Given the description of an element on the screen output the (x, y) to click on. 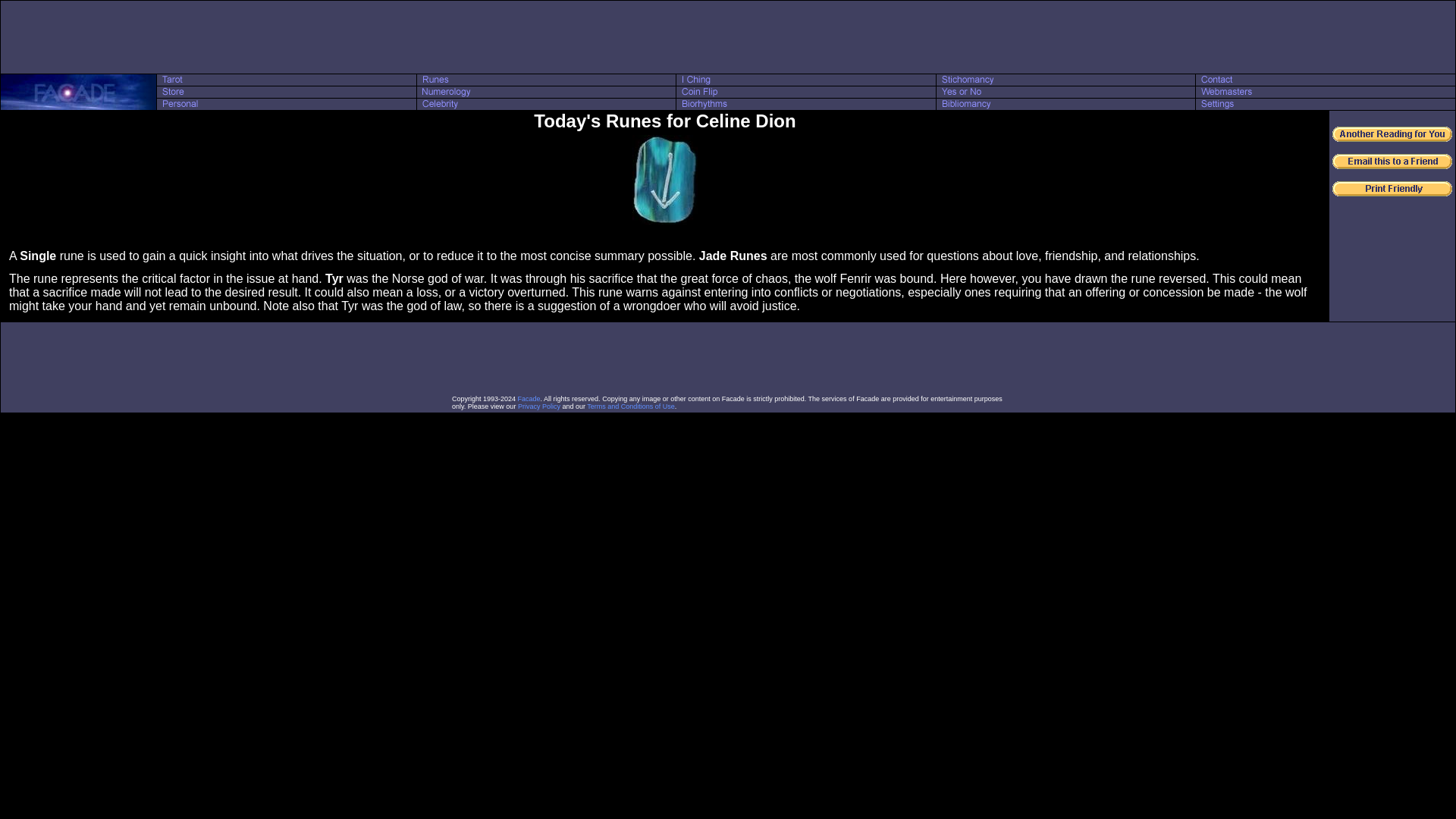
Privacy Policy (539, 406)
Advertisement (727, 37)
Facade (529, 398)
Terms and Conditions of Use (630, 406)
Advertisement (727, 357)
